Given the description of an element on the screen output the (x, y) to click on. 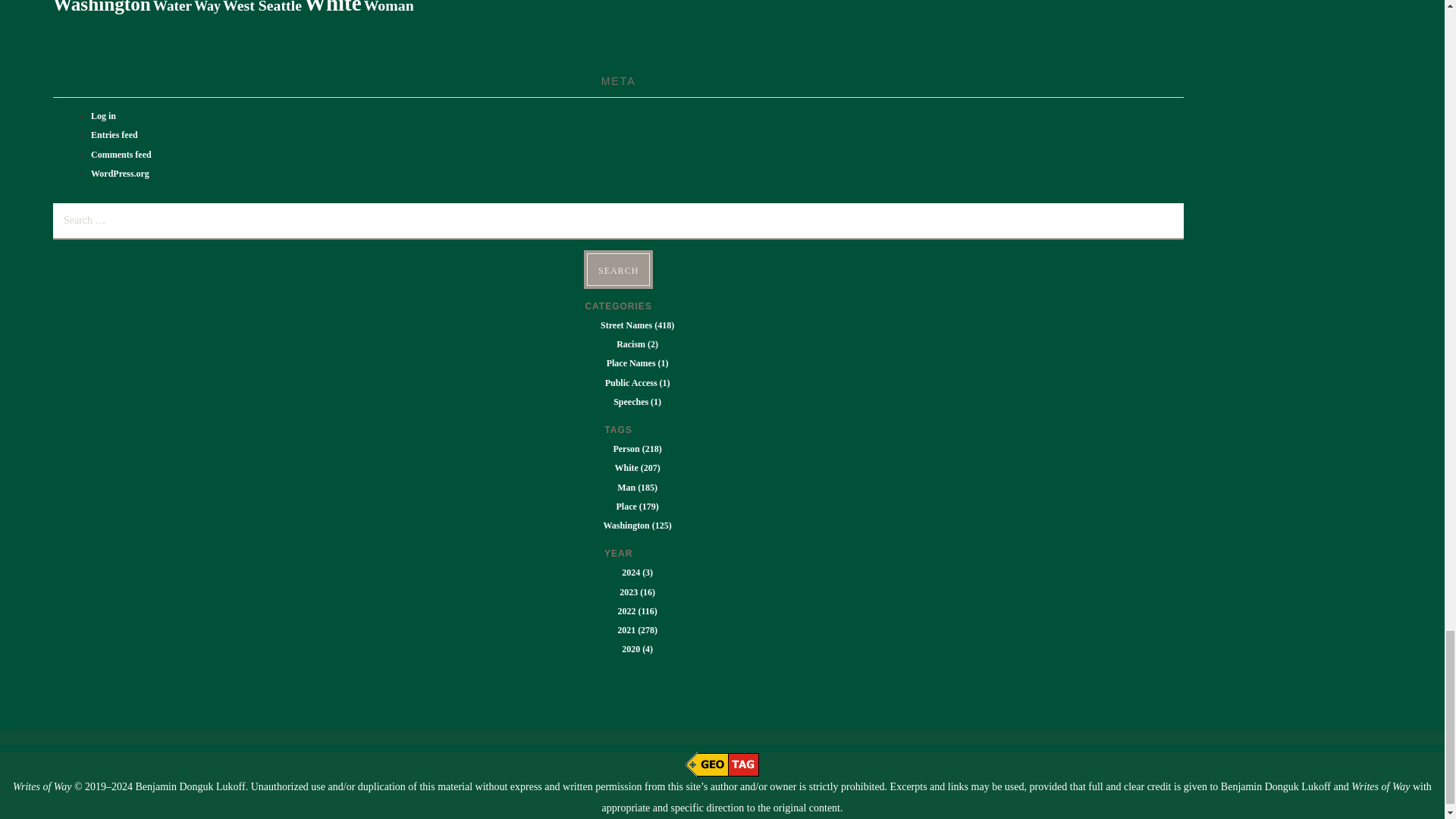
Search (617, 269)
Search (617, 269)
